Given the description of an element on the screen output the (x, y) to click on. 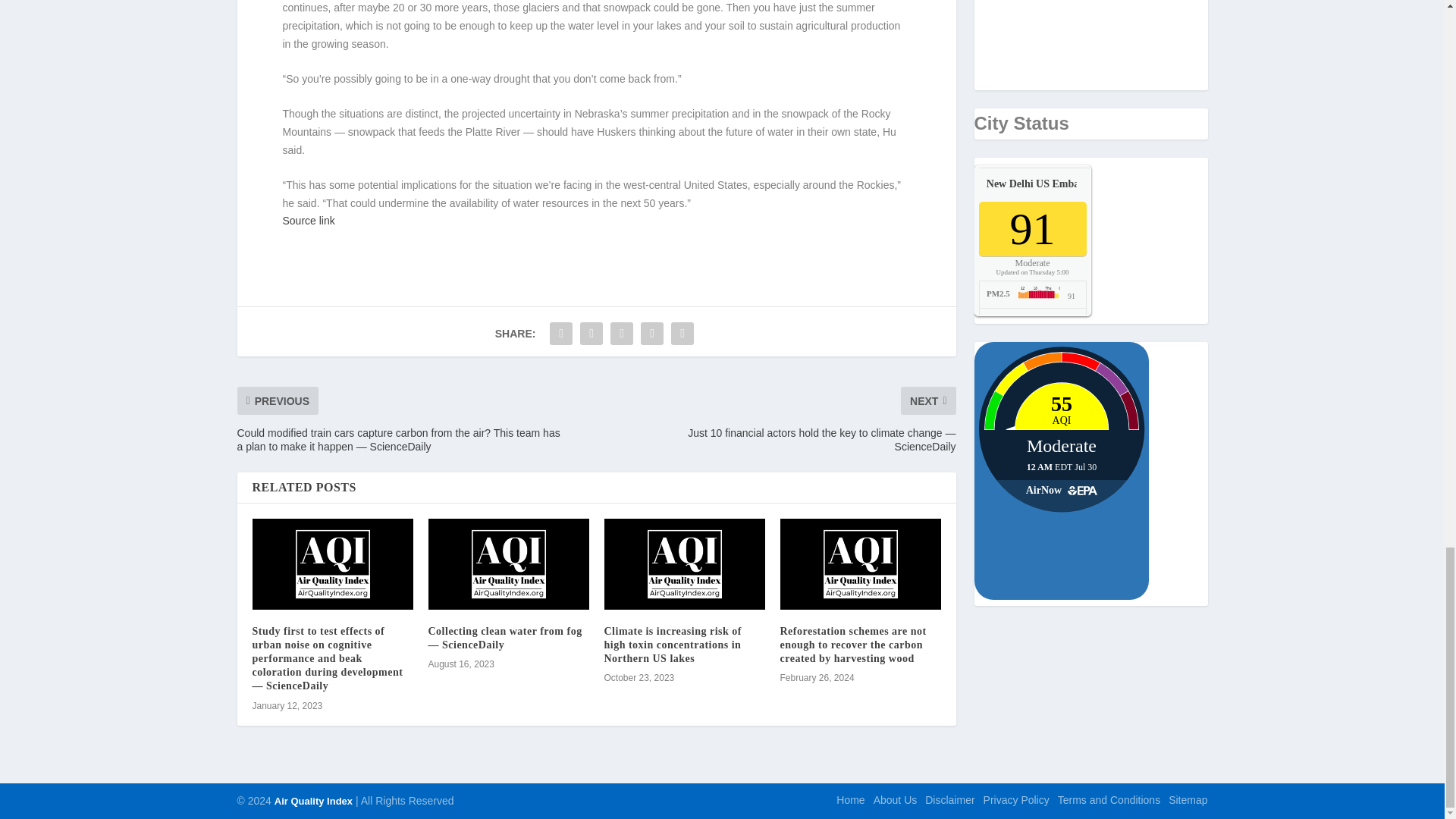
Source link (308, 220)
